Given the description of an element on the screen output the (x, y) to click on. 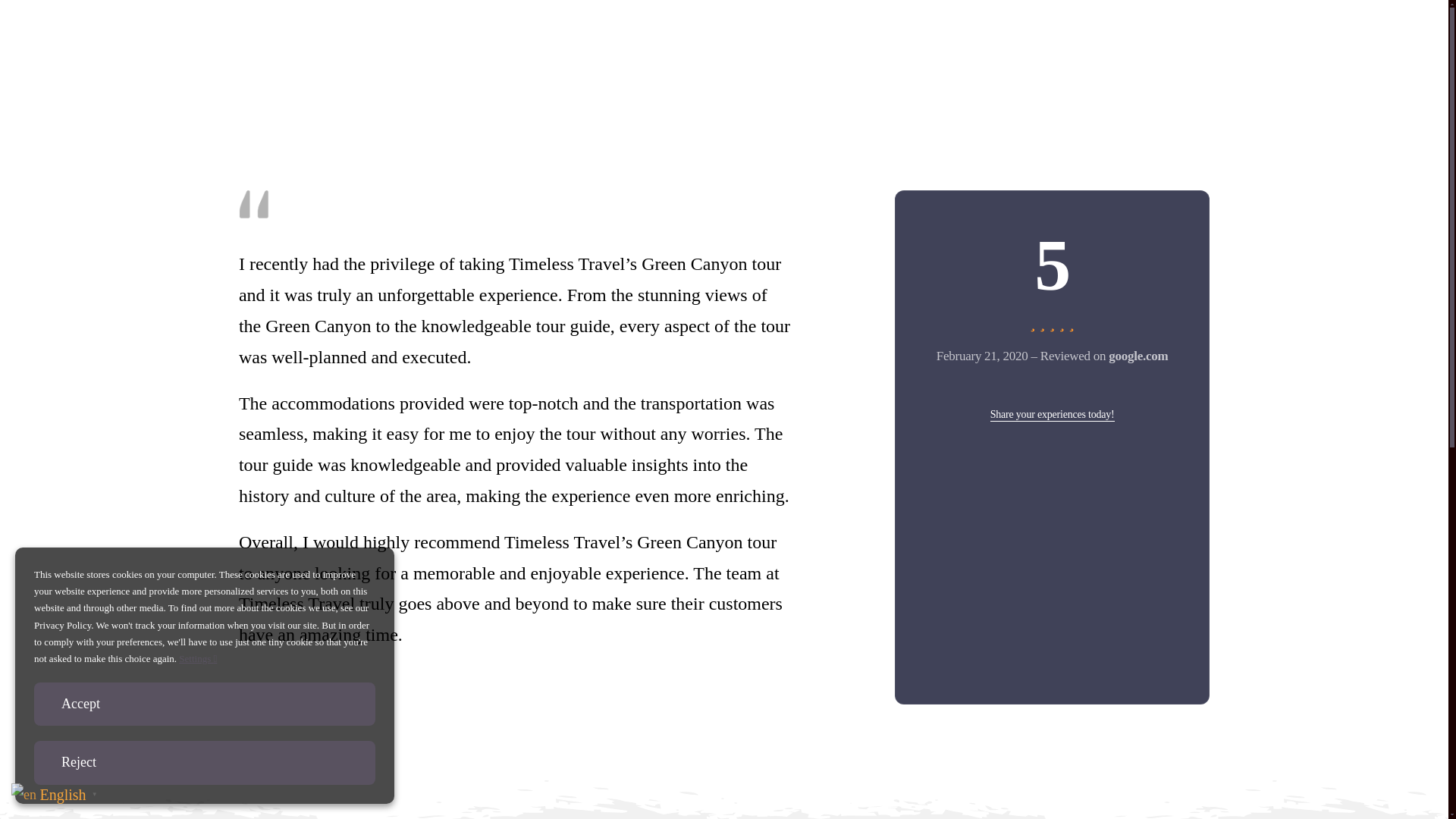
Share your experiences today! (1052, 414)
quotes (253, 204)
google.com (1052, 414)
